Given the description of an element on the screen output the (x, y) to click on. 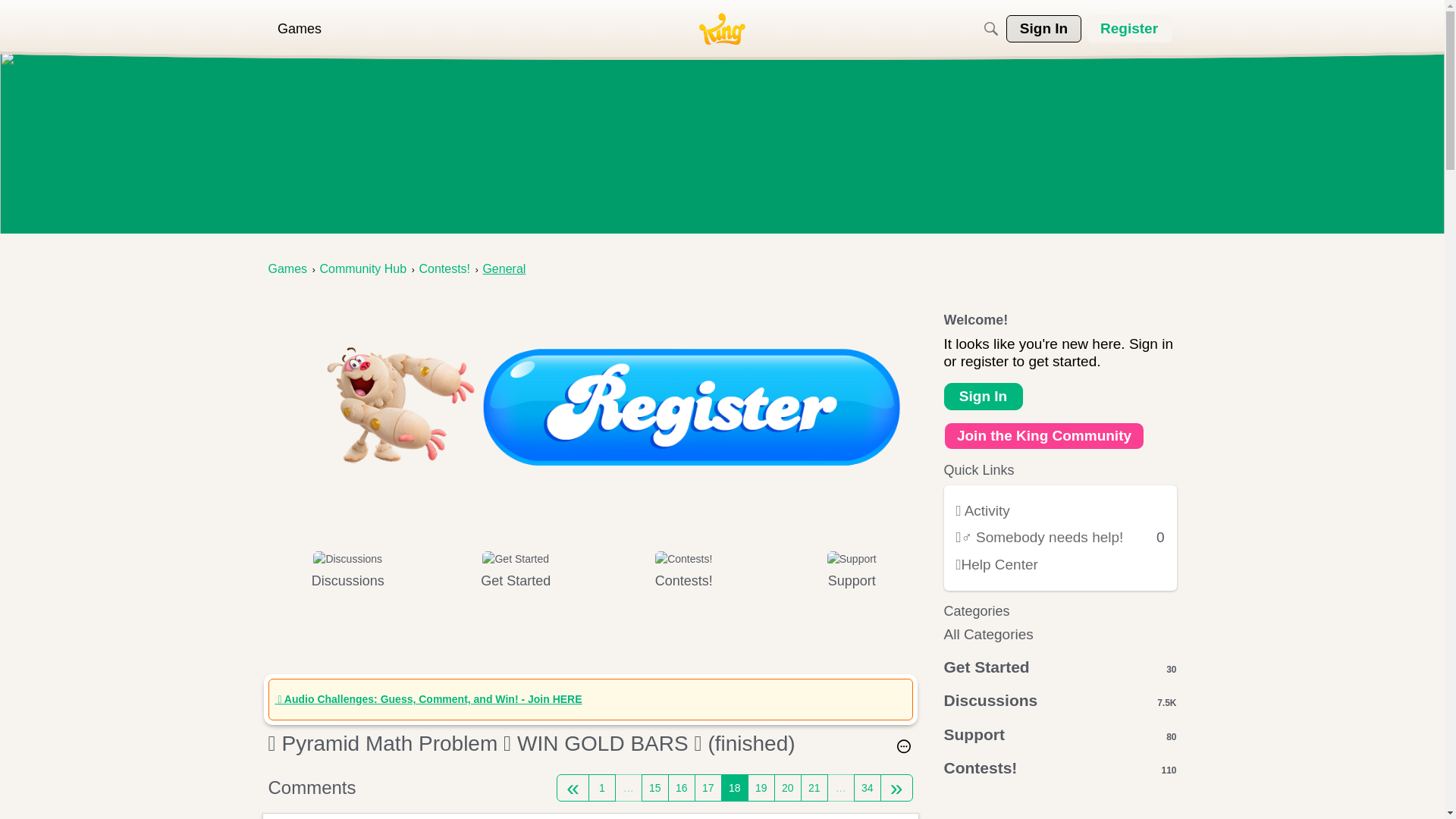
21 (814, 787)
Next Page (896, 787)
Support (851, 581)
34 (866, 787)
16 (681, 787)
Get Started (516, 581)
Register (1129, 28)
1 (601, 787)
Sign In (1043, 28)
Previous Page (572, 787)
Contests! (683, 581)
Community Hub (362, 268)
19 (761, 787)
Games (287, 268)
